Given the description of an element on the screen output the (x, y) to click on. 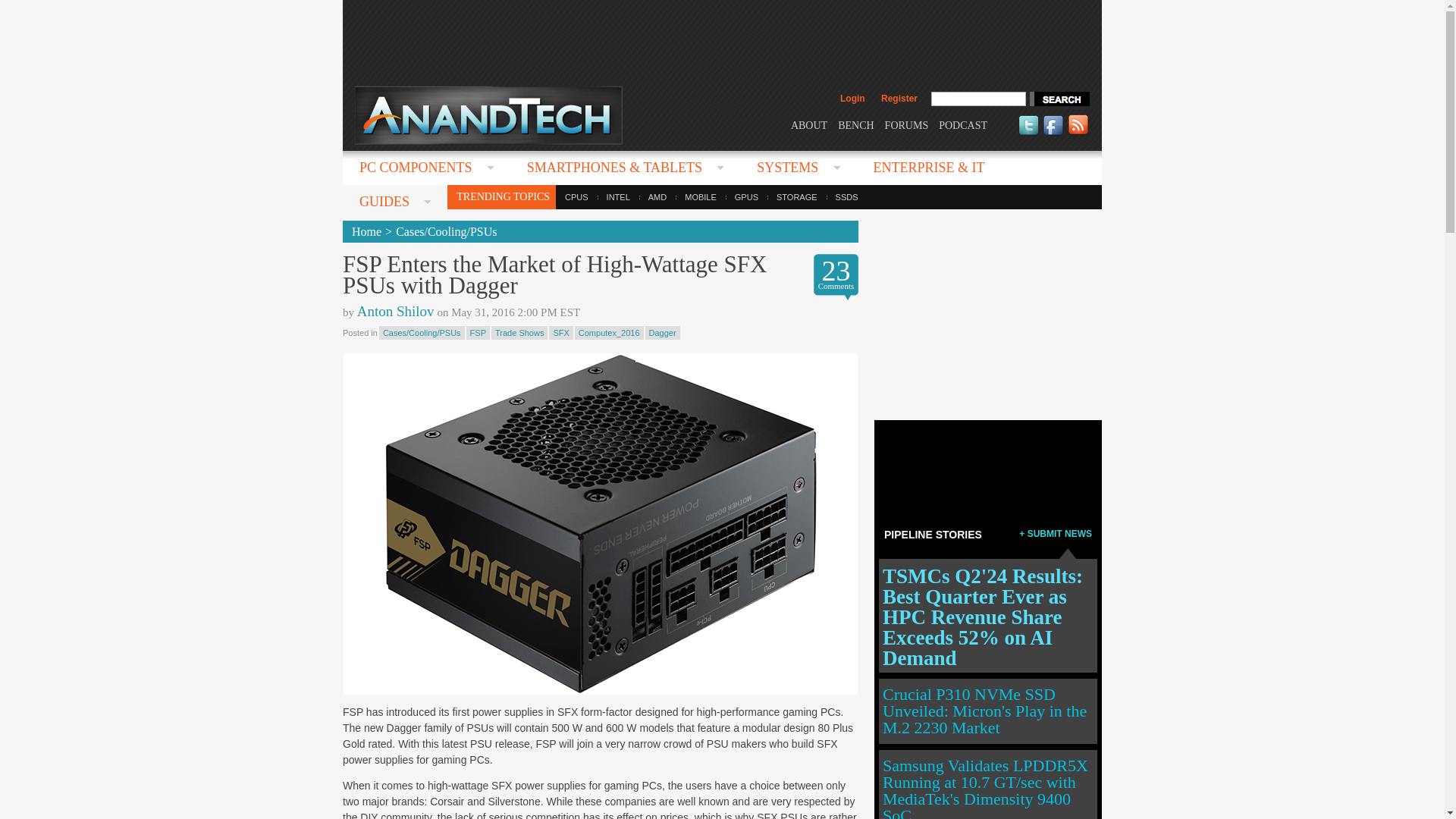
Register (898, 98)
search (1059, 98)
ABOUT (808, 125)
Login (852, 98)
PODCAST (963, 125)
search (1059, 98)
FORUMS (906, 125)
BENCH (855, 125)
search (1059, 98)
